Given the description of an element on the screen output the (x, y) to click on. 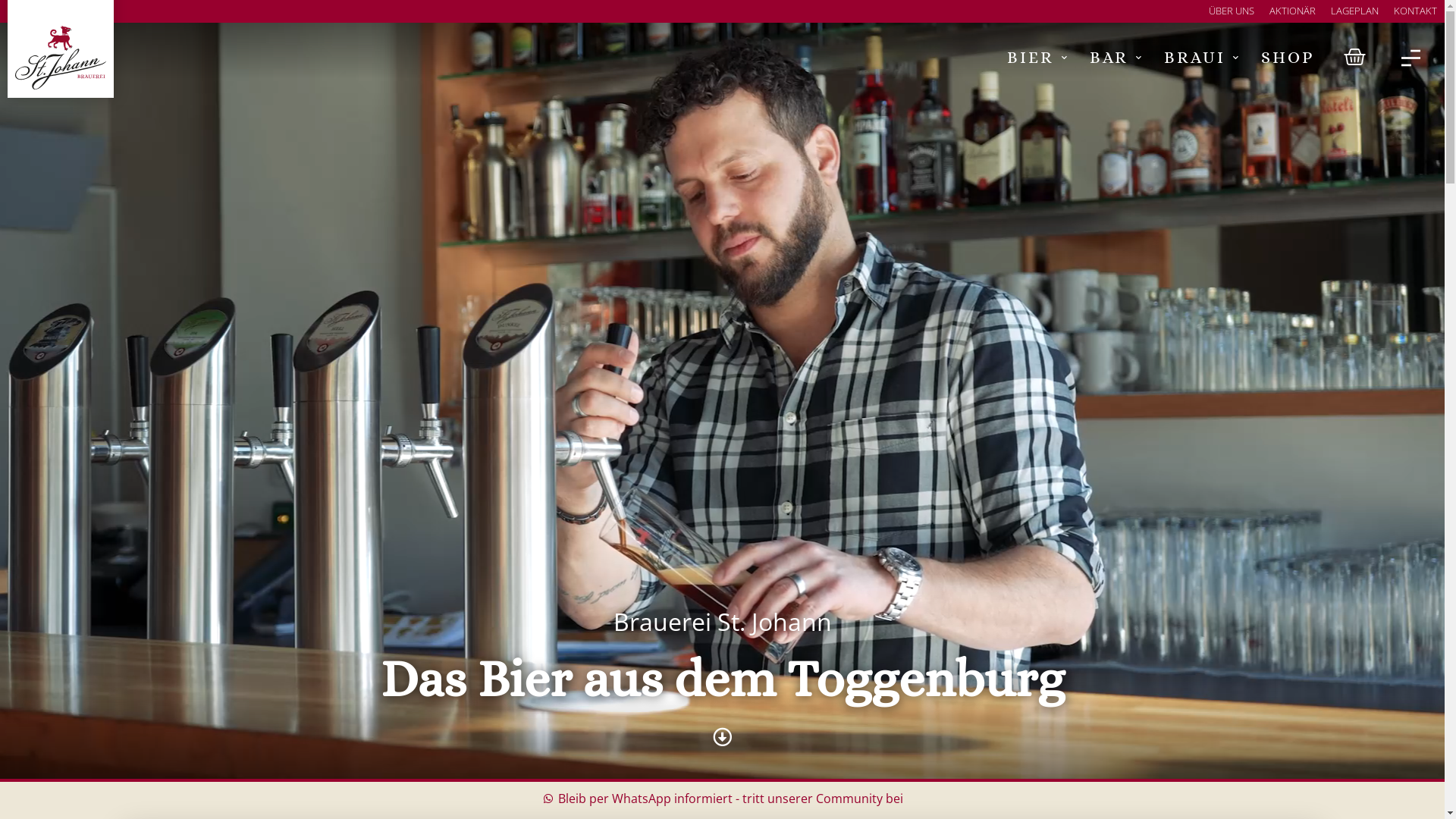
Bleib per WhatsApp informiert - tritt unserer Community bei Element type: text (721, 798)
LAGEPLAN Element type: text (1354, 11)
BRAUI Element type: text (1200, 57)
BIER Element type: text (1036, 57)
BAR Element type: text (1115, 57)
KONTAKT Element type: text (1415, 11)
SHOP Element type: text (1287, 57)
